Given the description of an element on the screen output the (x, y) to click on. 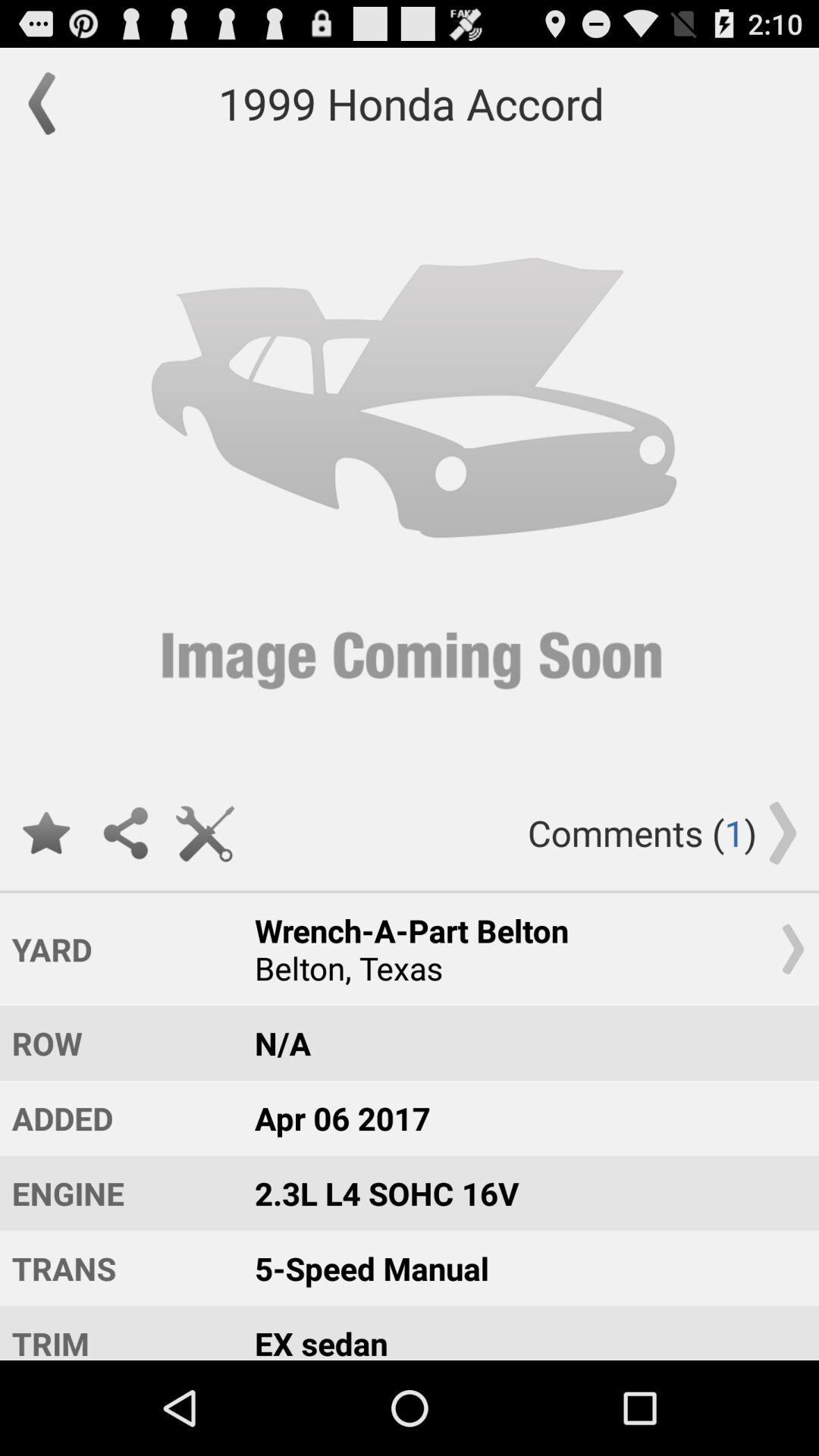
flip to 5-speed manual item (522, 1267)
